Given the description of an element on the screen output the (x, y) to click on. 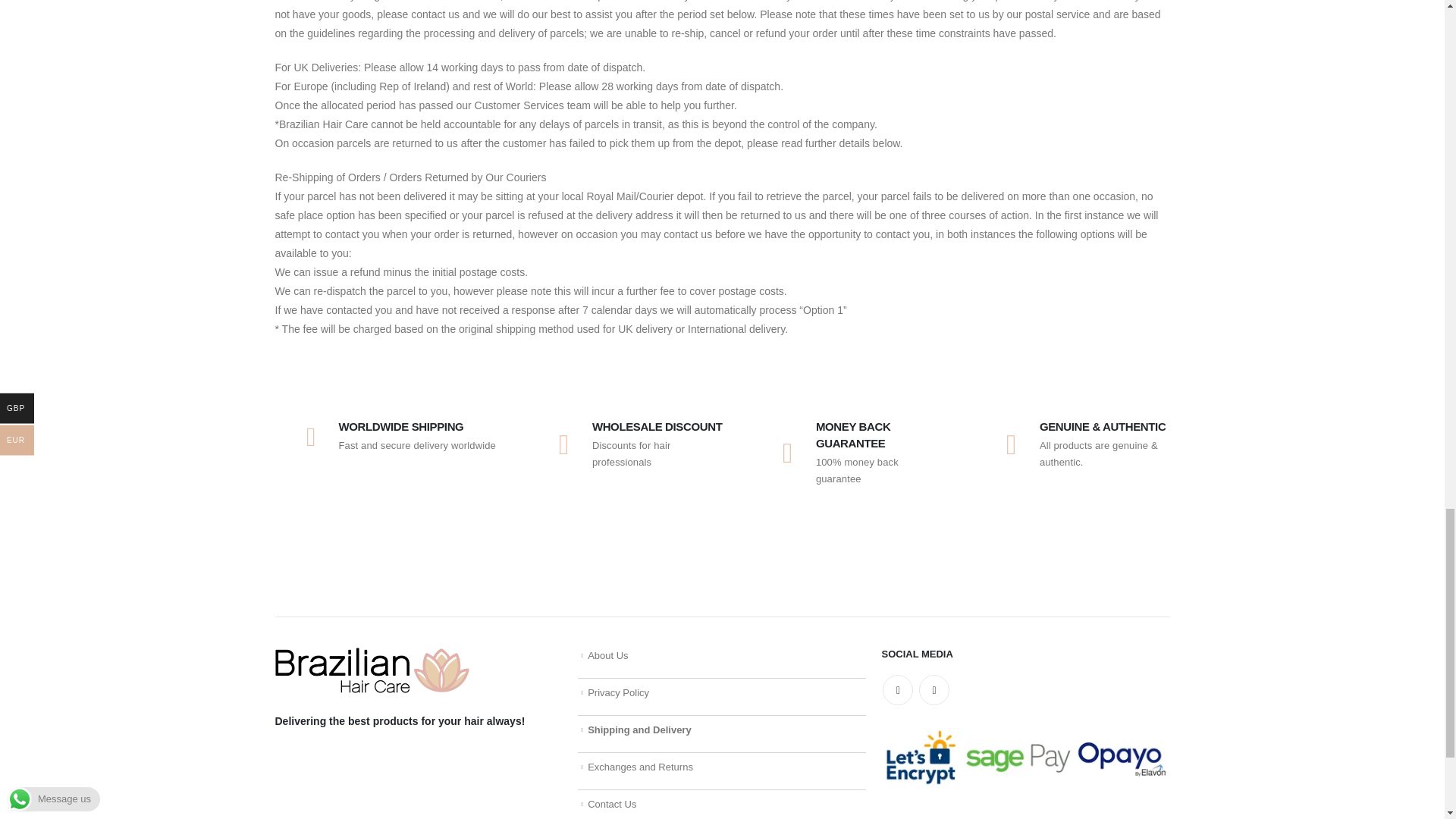
About Us (607, 655)
Instagram (933, 689)
Facebook (897, 689)
